Given the description of an element on the screen output the (x, y) to click on. 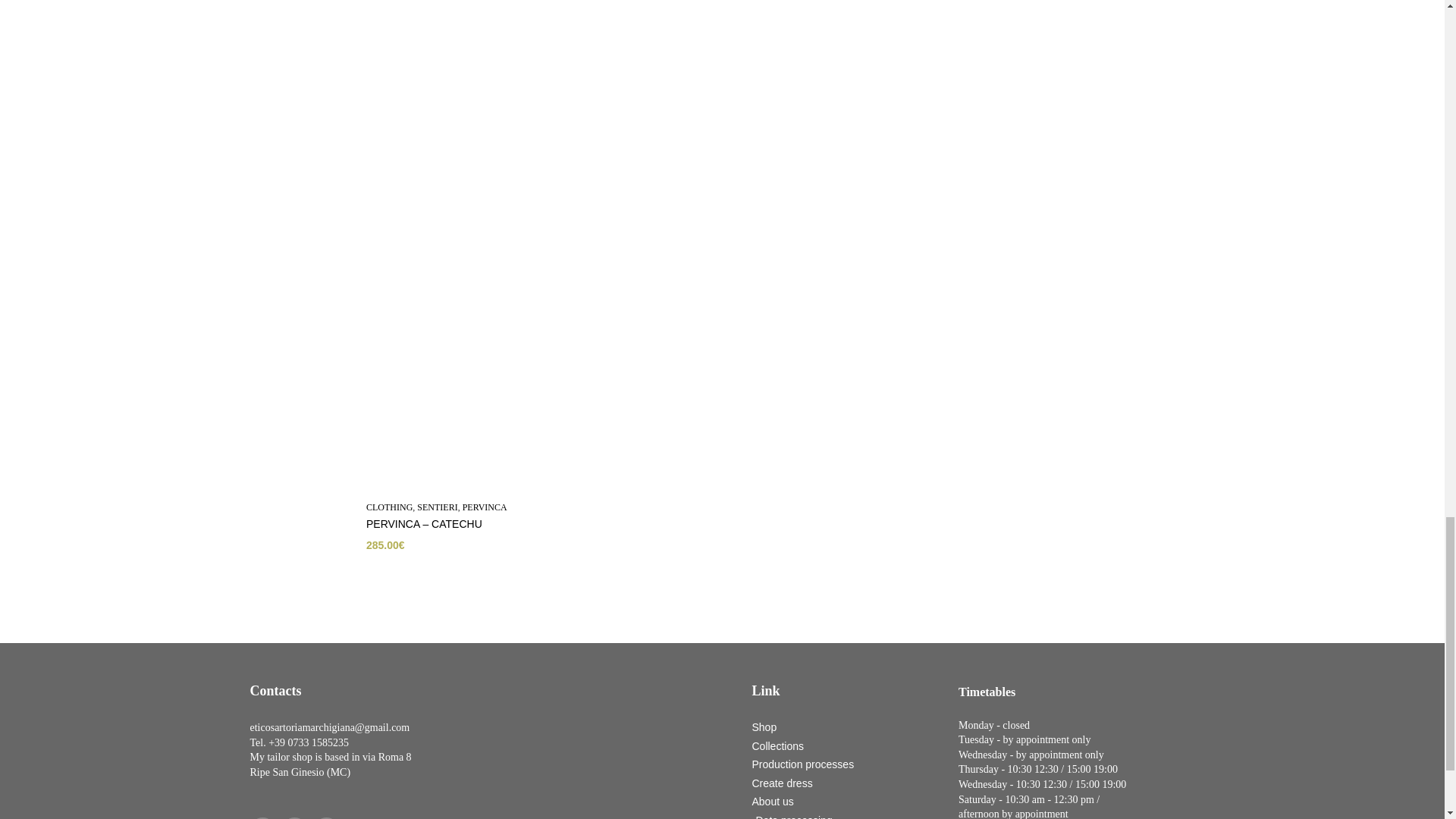
CLOTHING (388, 507)
SENTIERI (436, 507)
PERVINCA (483, 507)
